Given the description of an element on the screen output the (x, y) to click on. 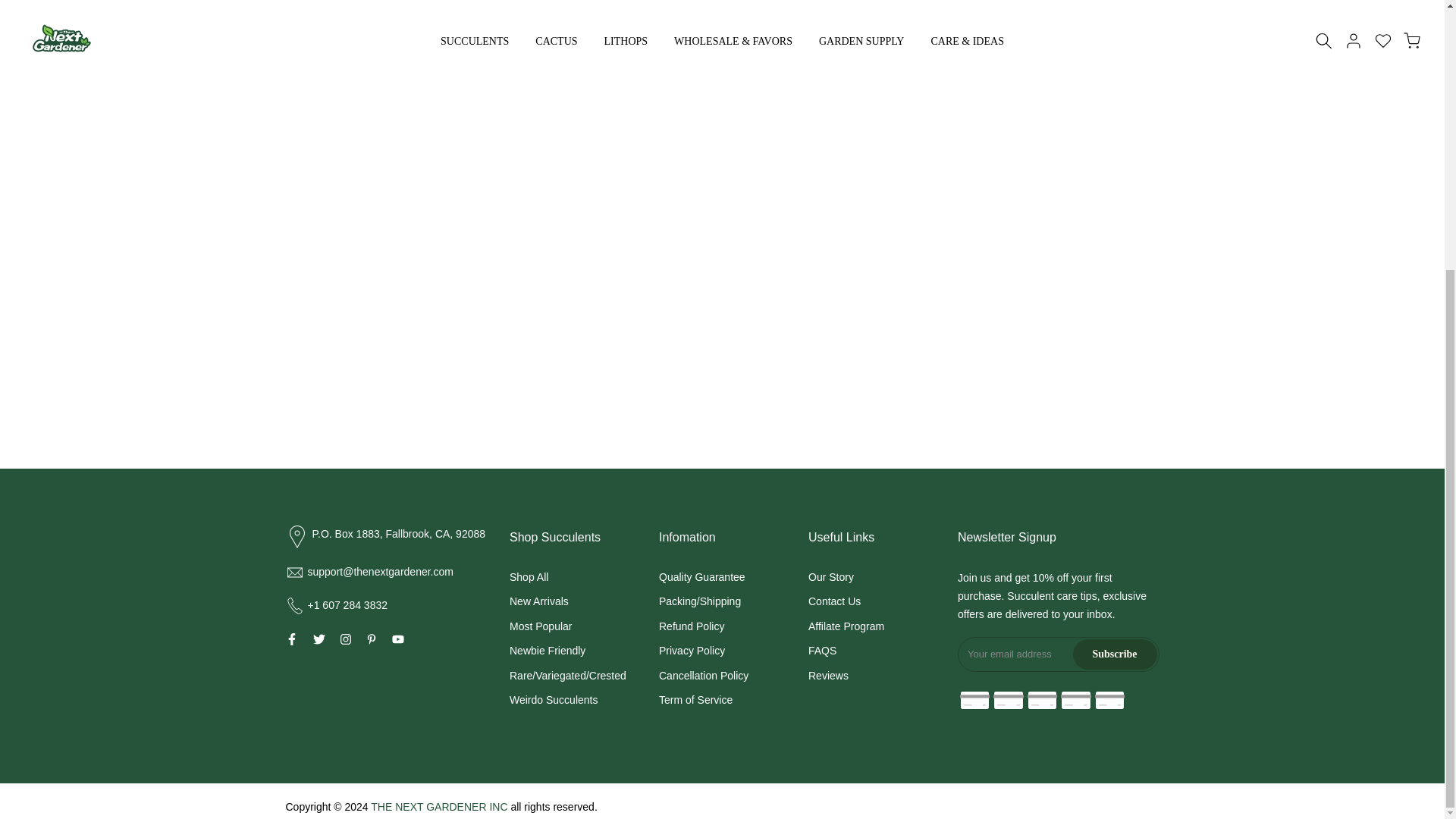
Cancellation Policy (703, 675)
Term of Service (695, 699)
Quality Guarantee (702, 576)
New Arrivals (539, 601)
Most Popular (540, 625)
Contact Us (834, 601)
Shop All (528, 576)
Our Story (830, 576)
Privacy Policy (692, 650)
Weirdo Succulents (552, 699)
homepage (775, 51)
Newbie Friendly (547, 650)
Affilate Program (845, 625)
Refund Policy (691, 625)
